Given the description of an element on the screen output the (x, y) to click on. 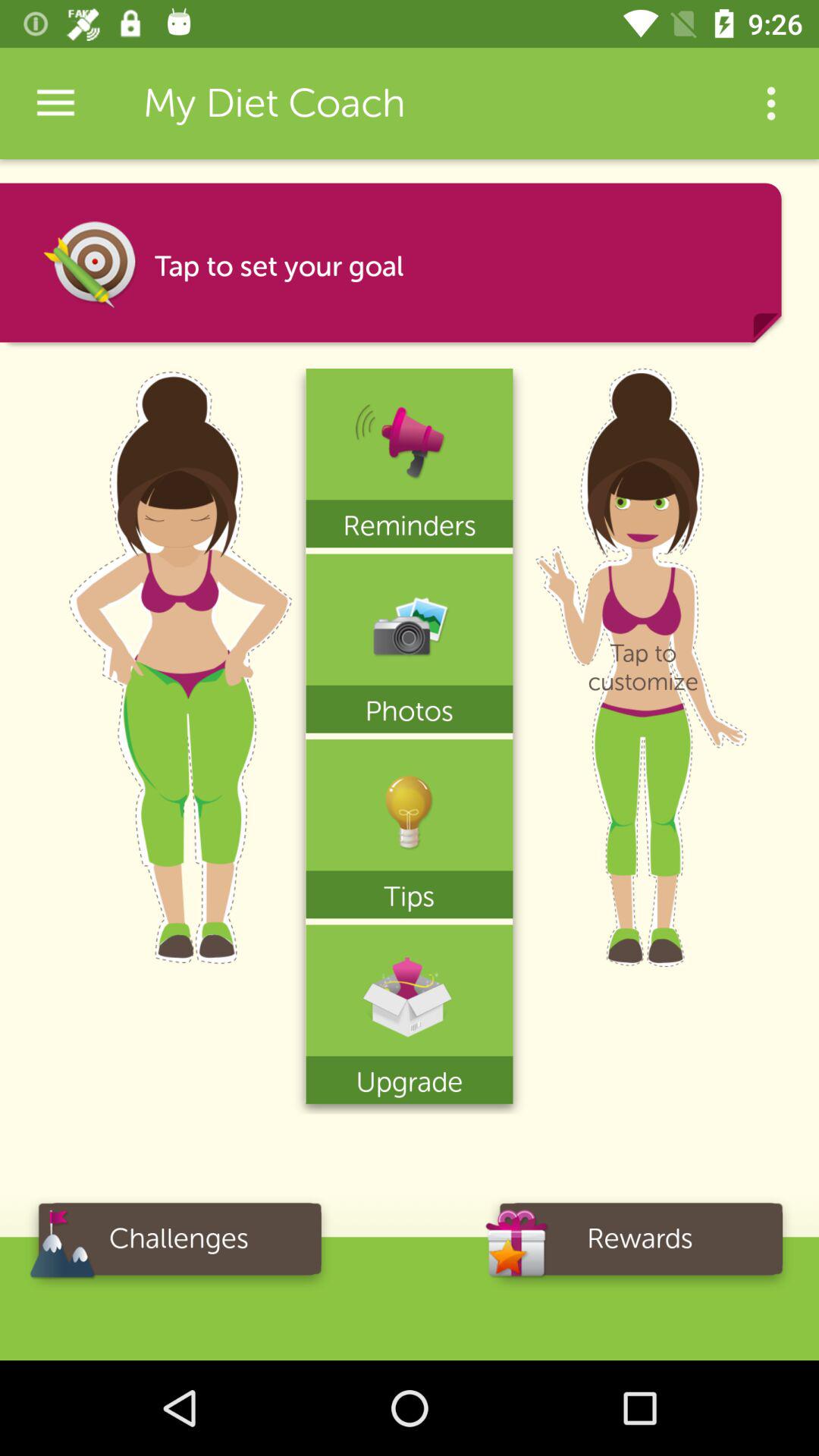
tap the app to the right of my diet coach app (771, 103)
